Given the description of an element on the screen output the (x, y) to click on. 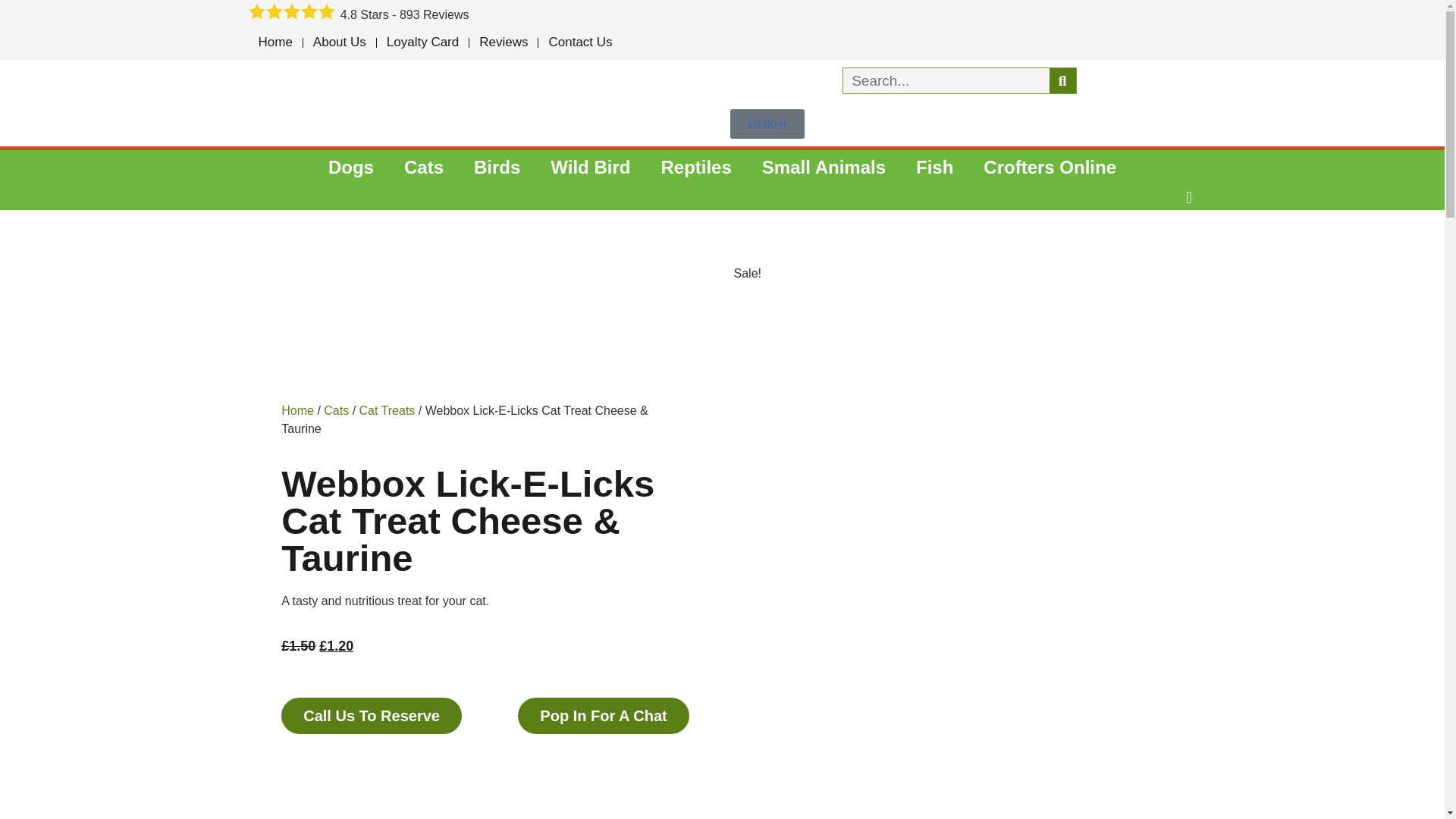
Reviews (502, 42)
About Us (338, 42)
Contact Us (579, 42)
Loyalty Card (422, 42)
Dogs (350, 167)
Home (275, 42)
